Given the description of an element on the screen output the (x, y) to click on. 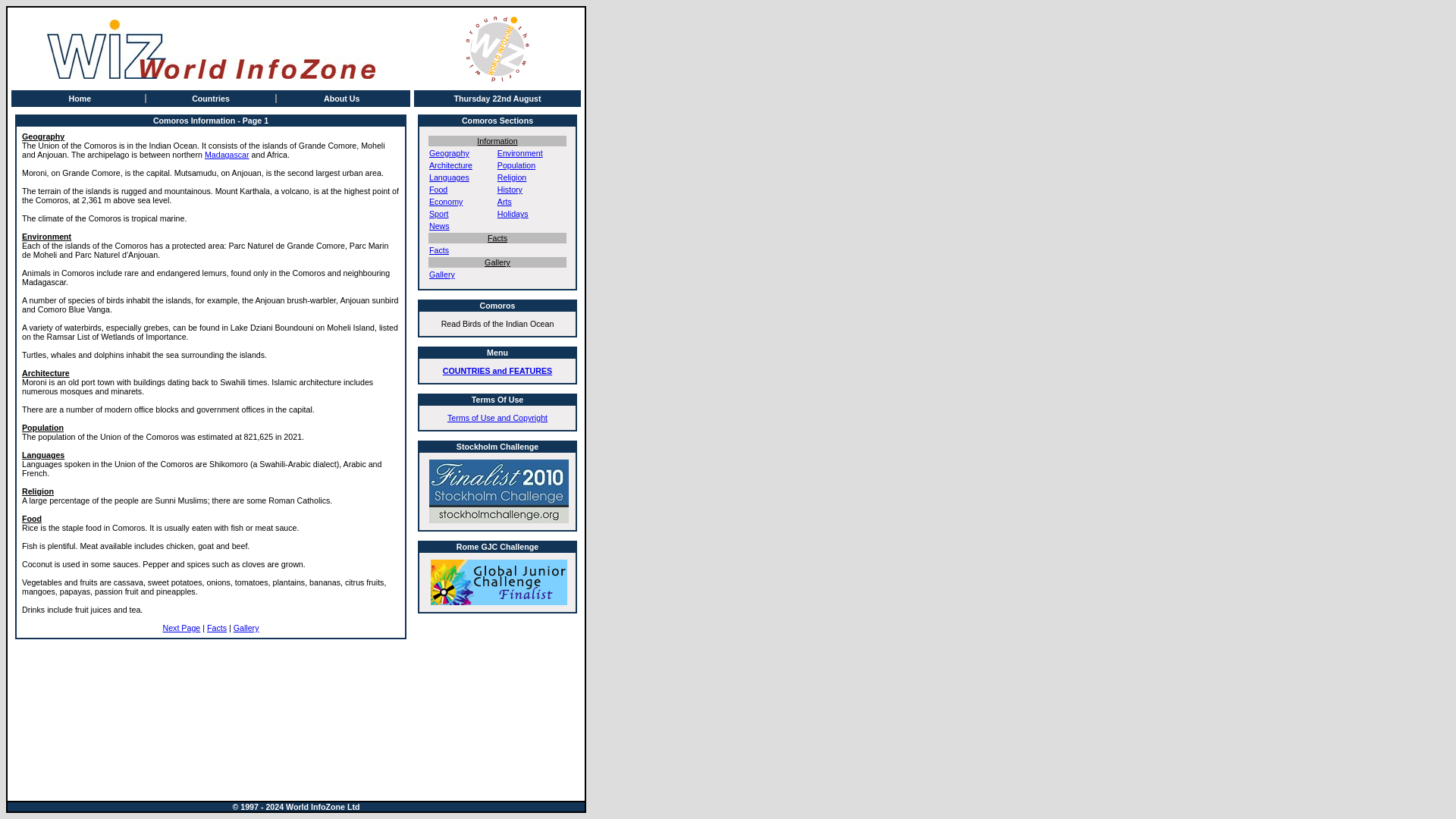
Facts (438, 249)
Environment (520, 153)
Gallery (441, 274)
Next Page (180, 627)
Madagascar (226, 153)
Countries (211, 98)
Population (516, 164)
Gallery (245, 627)
COUNTRIES and FEATURES (496, 370)
About Us (341, 98)
